Given the description of an element on the screen output the (x, y) to click on. 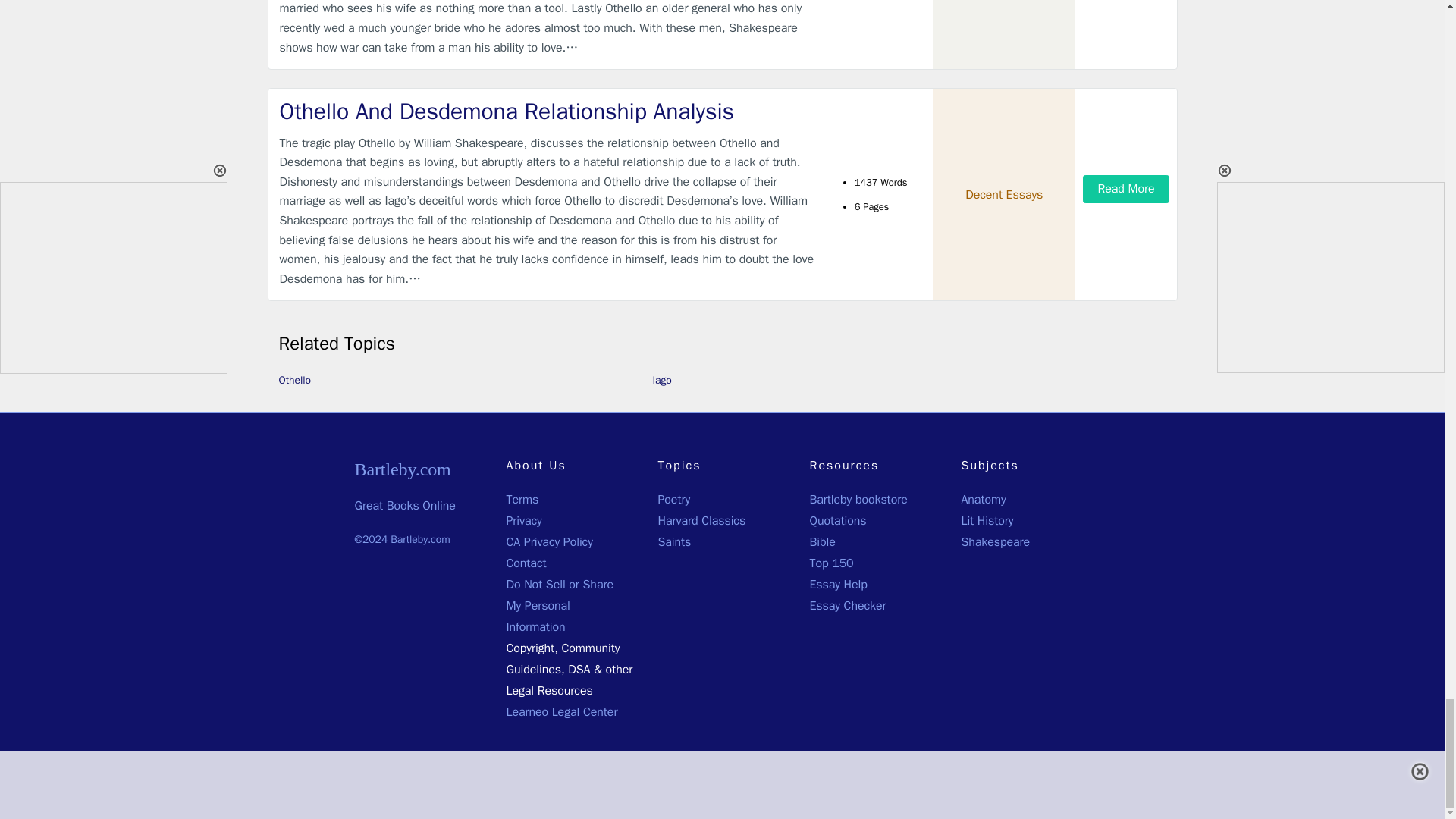
Othello (295, 379)
Iago (661, 379)
